Given the description of an element on the screen output the (x, y) to click on. 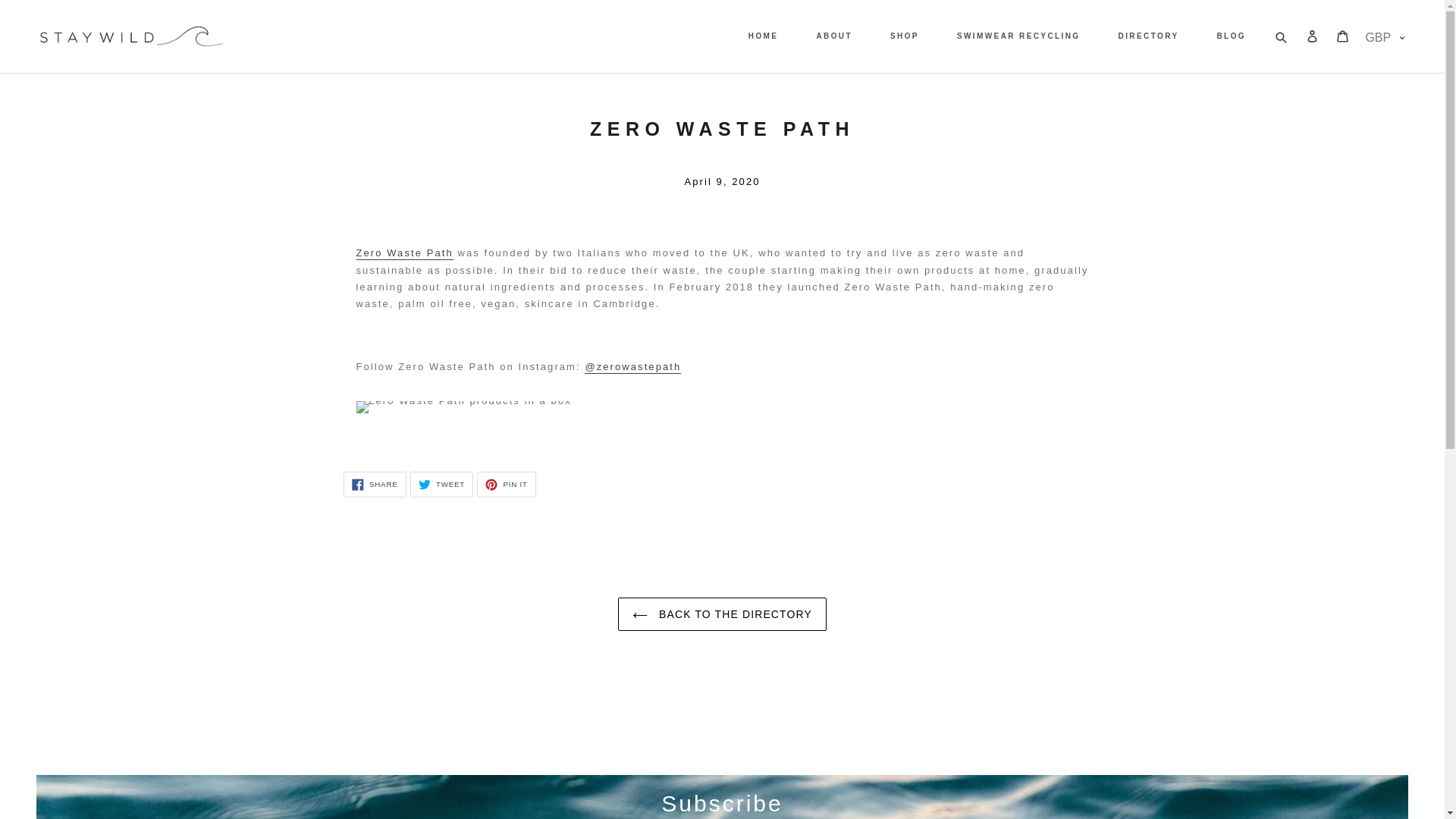
Log in (1312, 36)
SHOP (506, 484)
SWIMWEAR RECYCLING (903, 36)
DIRECTORY (1018, 36)
Submit (1148, 36)
BLOG (441, 484)
HOME (374, 484)
Zero Waste Path (1282, 36)
BACK TO THE DIRECTORY (1231, 36)
ABOUT (763, 36)
Cart (404, 253)
